Given the description of an element on the screen output the (x, y) to click on. 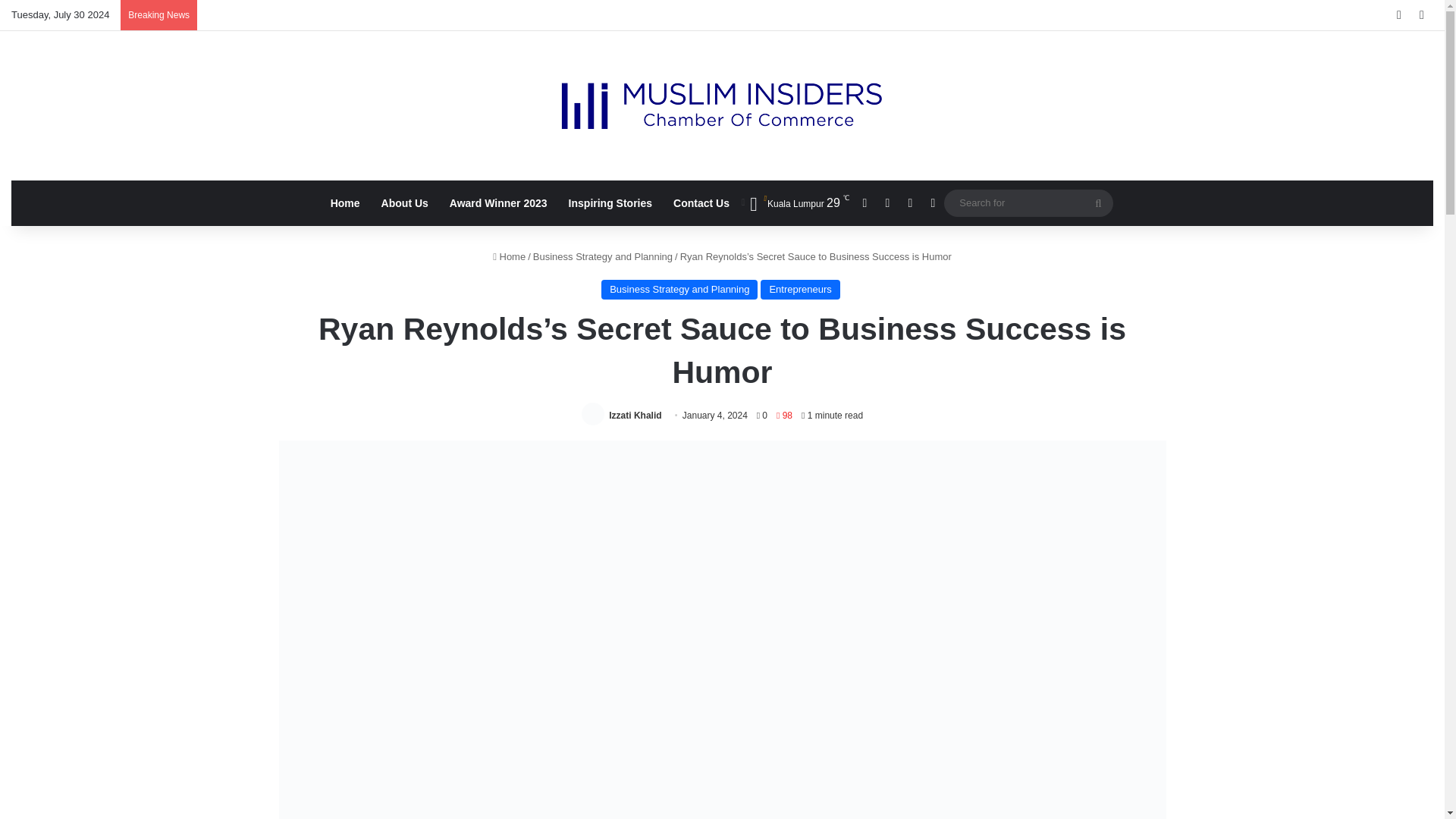
About Us (405, 203)
Izzati Khalid (634, 415)
Contact Us (700, 203)
Entrepreneurs (800, 289)
Home (345, 203)
Business Strategy and Planning (679, 289)
Inspiring Stories (609, 203)
Business Strategy and Planning (602, 256)
Award Winner 2023 (498, 203)
Muslim Insiders (722, 105)
Search for (1028, 202)
Scattered Clouds (793, 203)
Izzati Khalid (634, 415)
Home (509, 256)
